Given the description of an element on the screen output the (x, y) to click on. 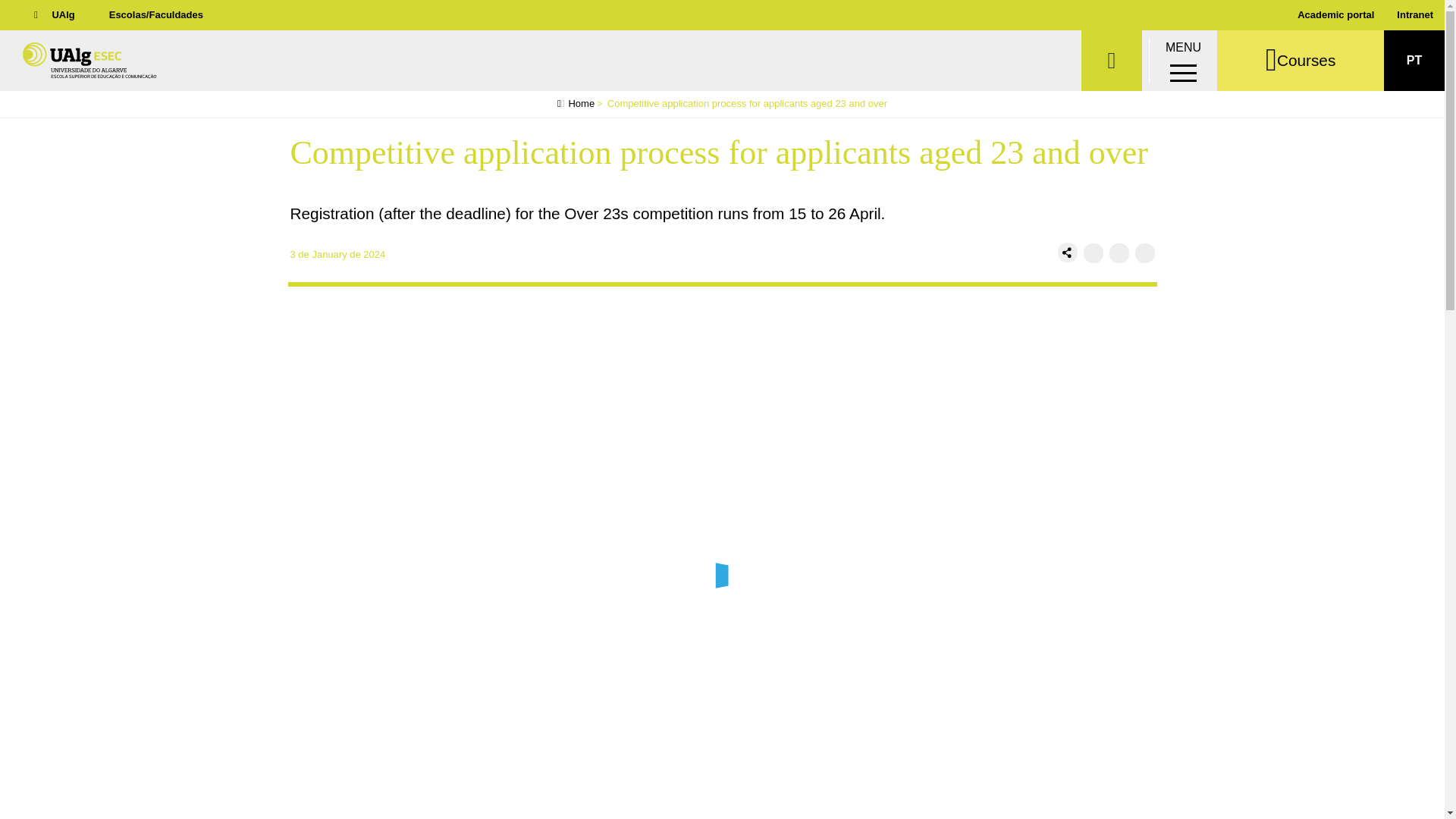
Home (121, 60)
